Given the description of an element on the screen output the (x, y) to click on. 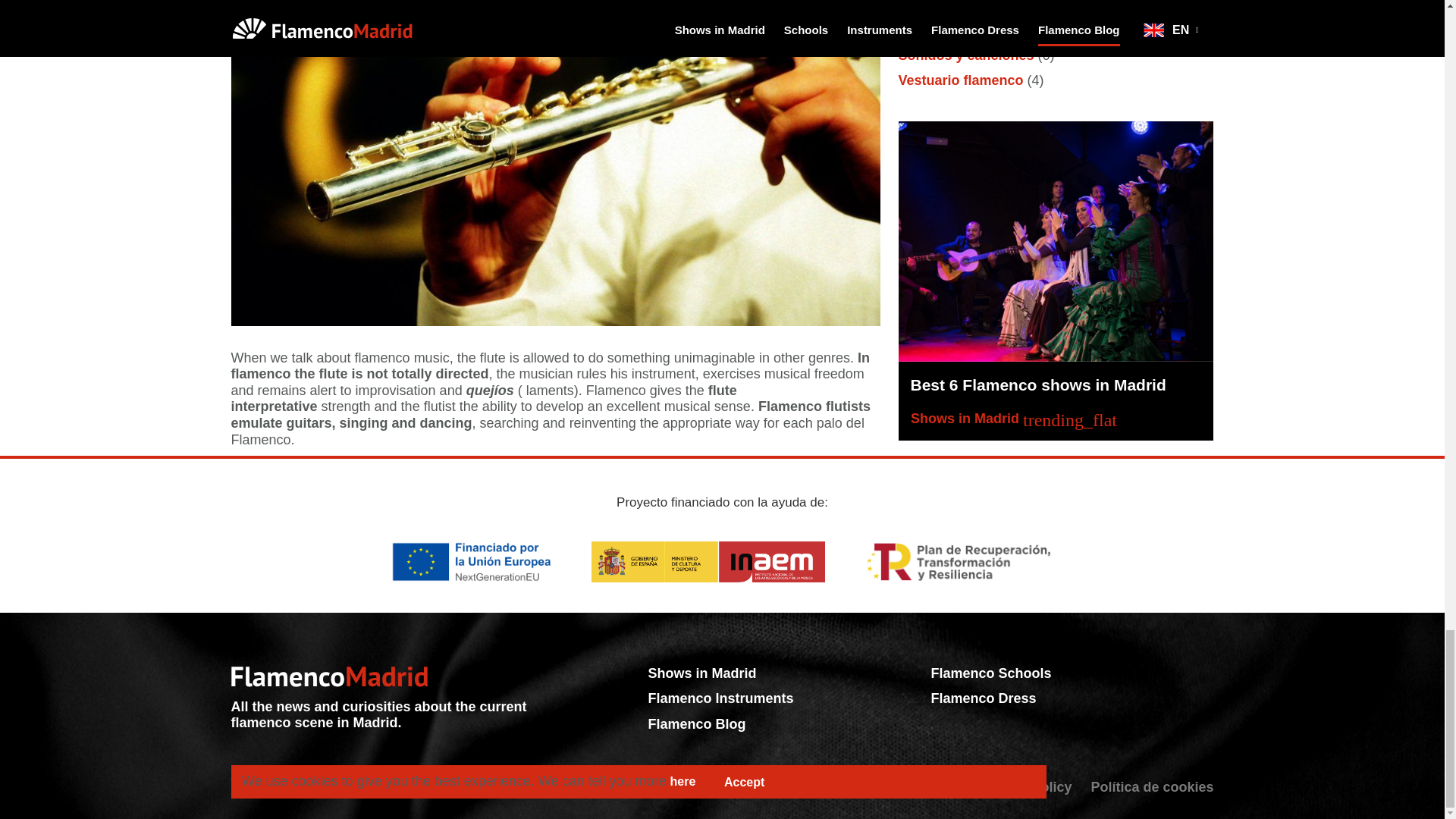
Privacy policy (1025, 786)
Flamenco Instruments (720, 698)
Aviso legal (924, 786)
Flamenco Dress (982, 698)
Flamenco Schools (990, 672)
Shows in Madrid (701, 672)
Flamenco Blog (696, 724)
